Given the description of an element on the screen output the (x, y) to click on. 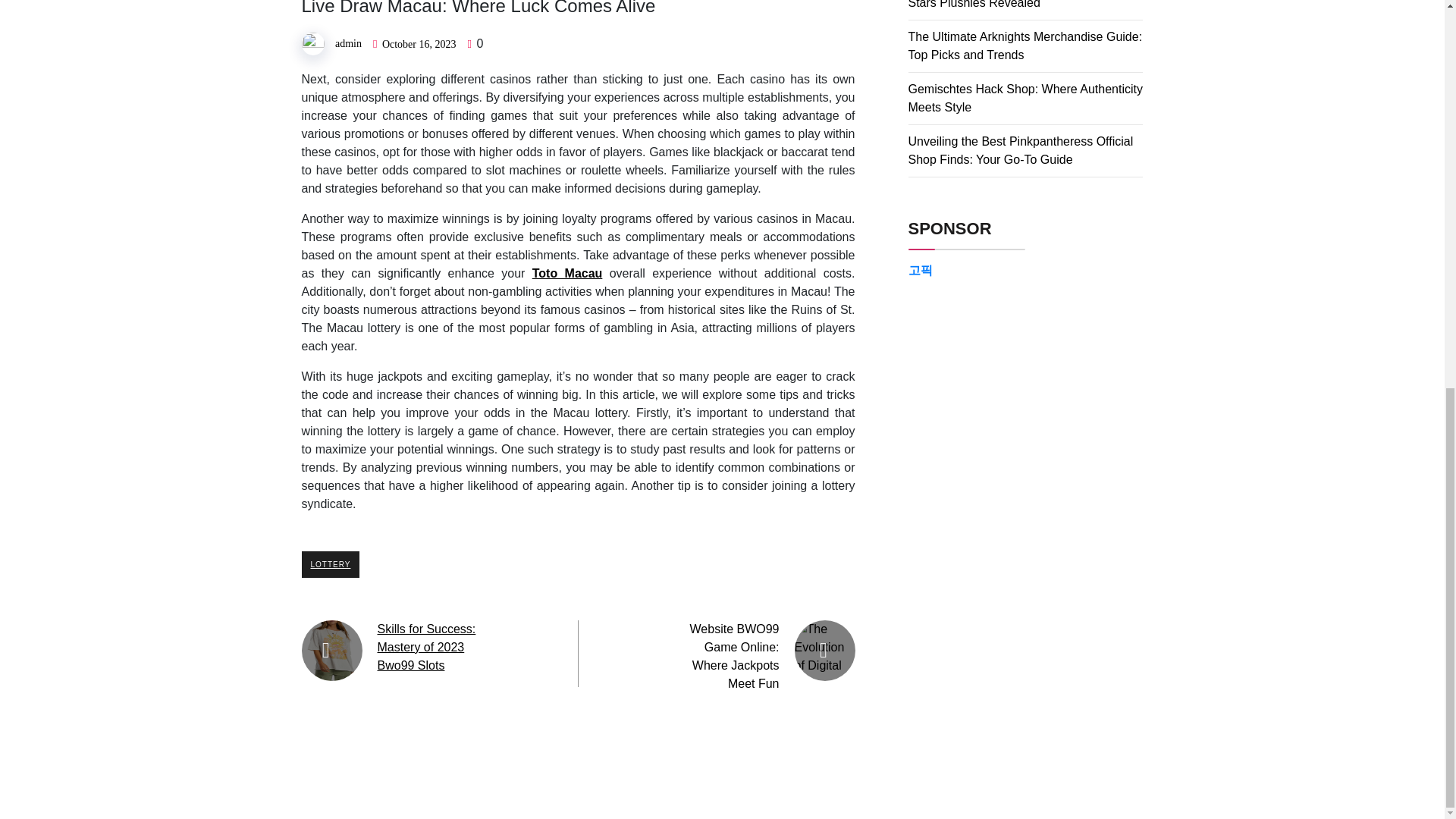
Website BWO99 Game Online: Where Jackpots Meet Fun (734, 655)
LOTTERY (330, 563)
Skills for Success: Mastery of 2023 Bwo99 Slots (426, 645)
October 16, 2023 (419, 43)
Gemischtes Hack Shop: Where Authenticity Meets Style (1025, 97)
admin (347, 43)
Toto Macau (567, 273)
